Given the description of an element on the screen output the (x, y) to click on. 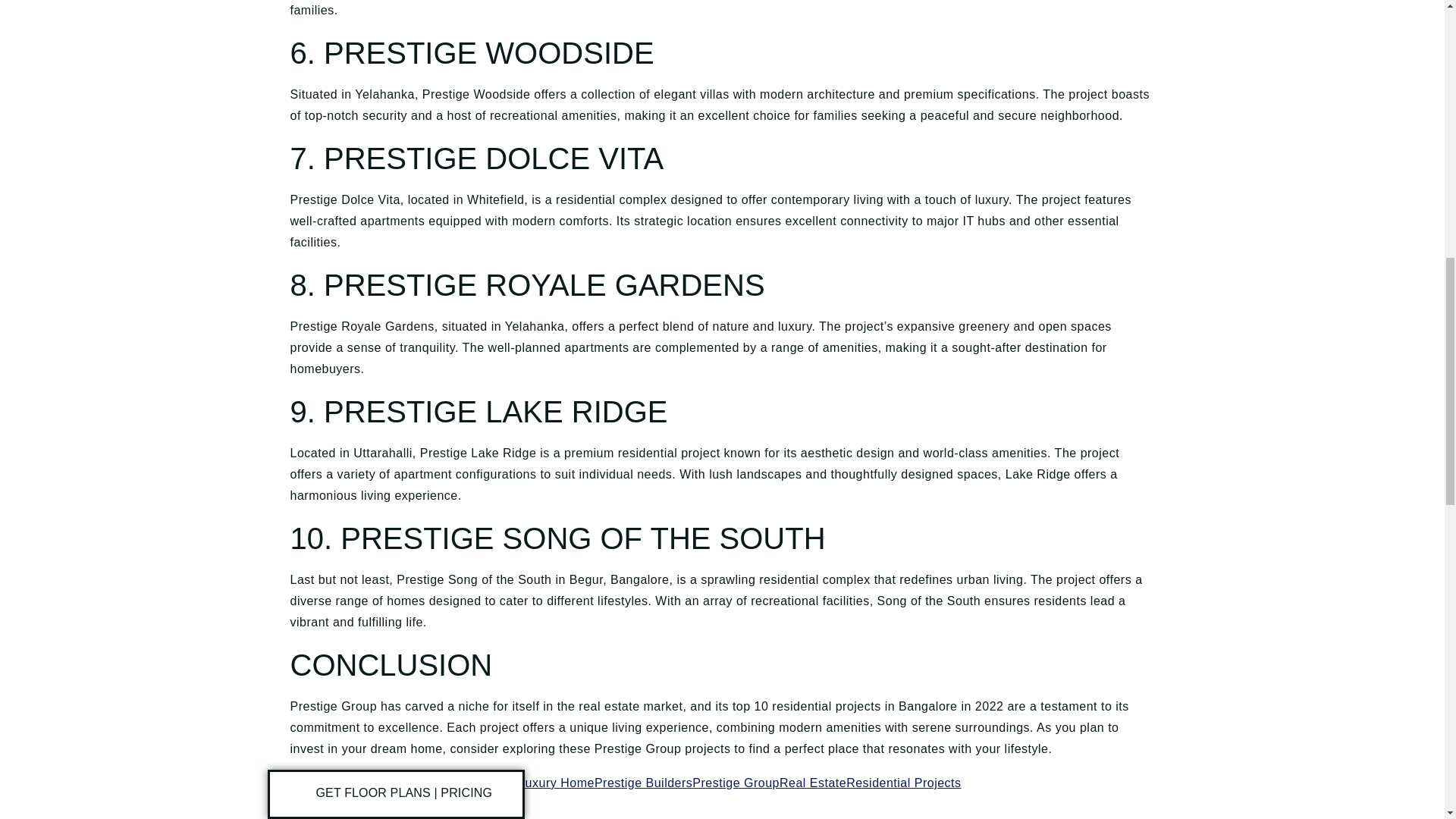
Luxury Home (556, 782)
Residential Projects (902, 782)
Real Estate (811, 782)
Prestige Group (735, 782)
Dream home (372, 782)
Prestige Builders (643, 782)
Luxury Aparatment (463, 782)
